Given the description of an element on the screen output the (x, y) to click on. 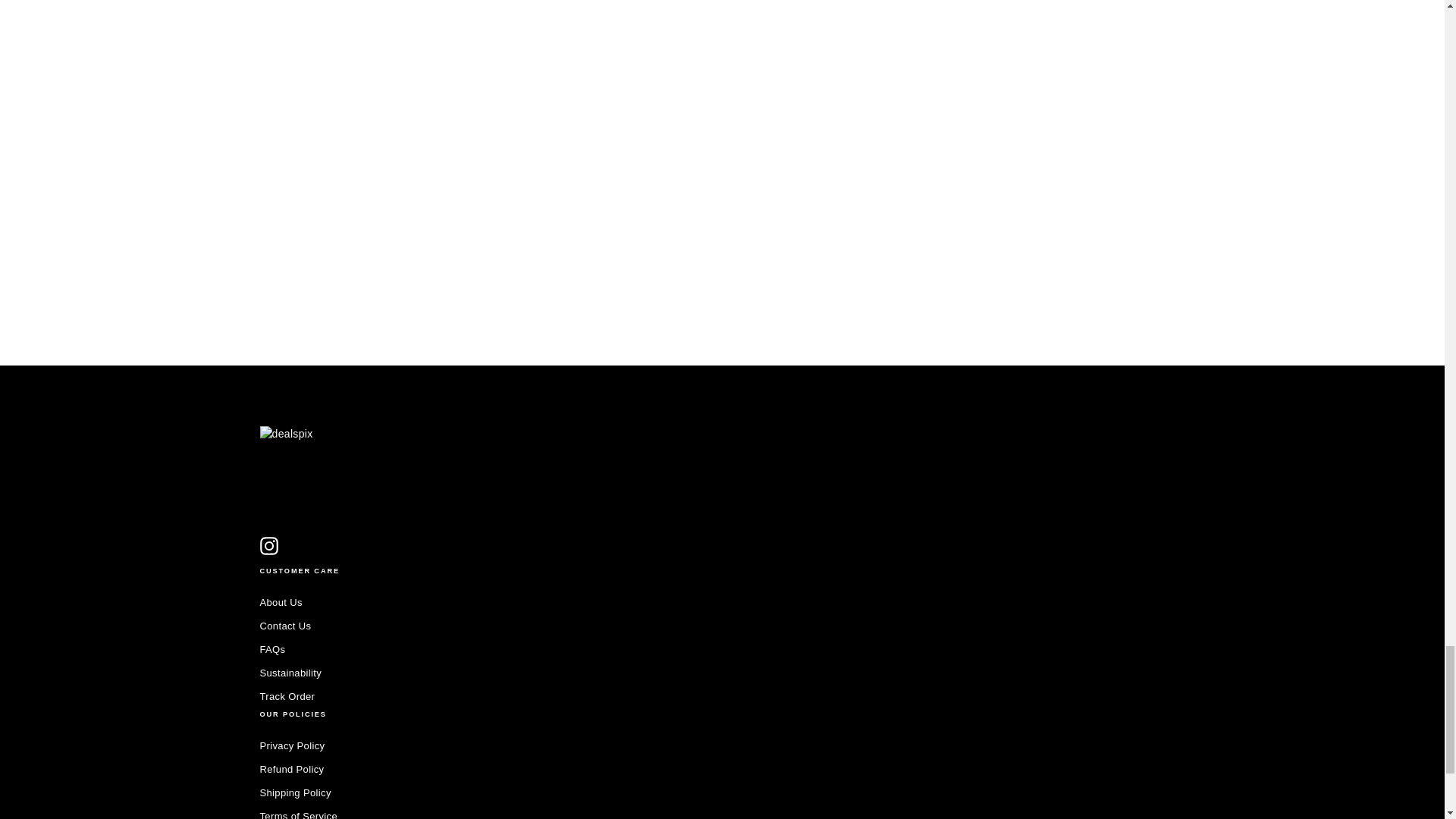
dealspix on Instagram (268, 546)
